Given the description of an element on the screen output the (x, y) to click on. 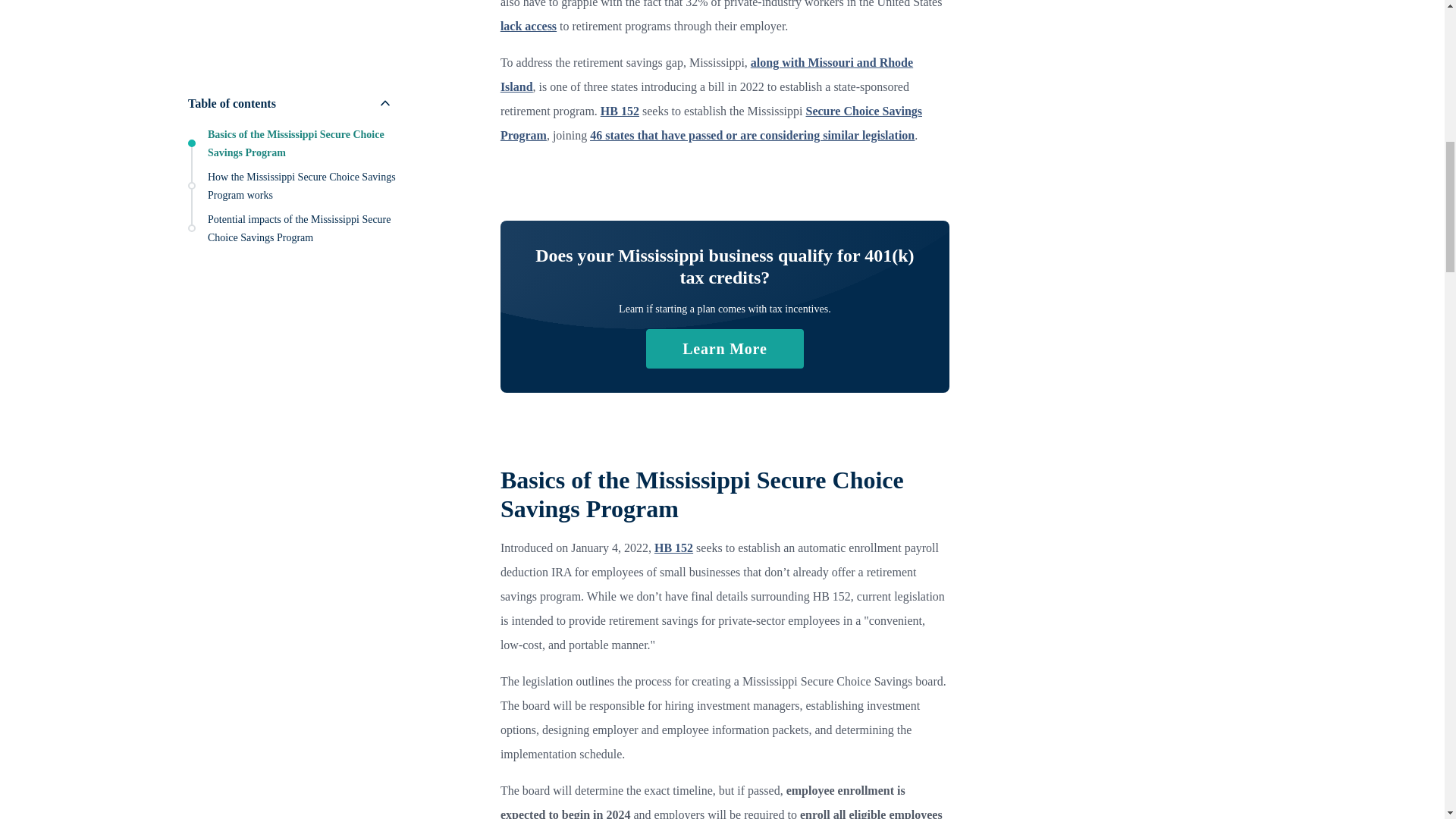
HB 152 (619, 110)
Learn More (724, 348)
Secure Choice Savings Program (710, 122)
HB 152 (673, 547)
along with Missouri and Rhode Island (706, 74)
lack access (528, 25)
